Given the description of an element on the screen output the (x, y) to click on. 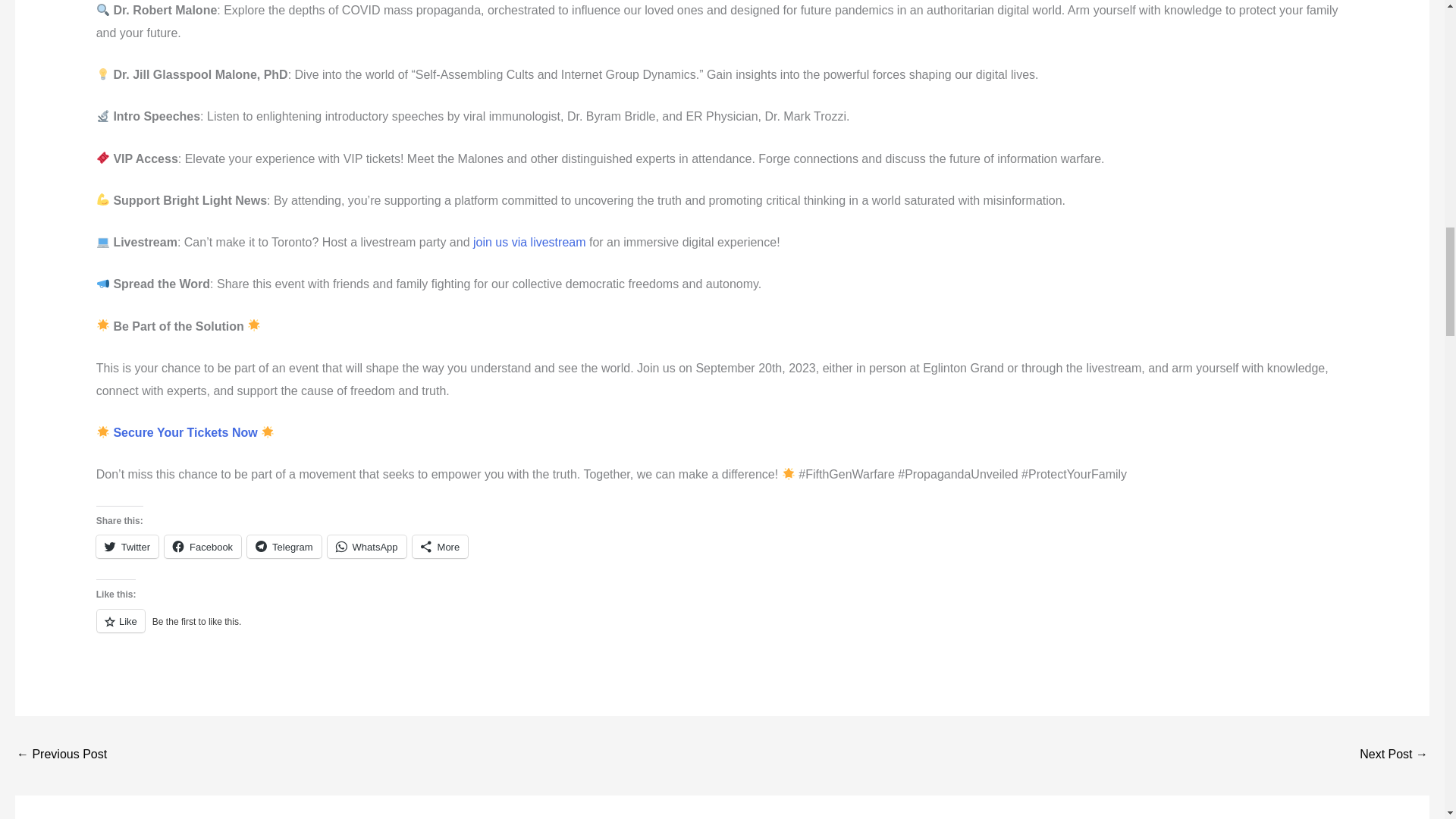
Click to share on WhatsApp (366, 546)
Like or Reblog (722, 629)
Click to share on Telegram (283, 546)
Click to share on Facebook (202, 546)
Click to share on Twitter (127, 546)
